Given the description of an element on the screen output the (x, y) to click on. 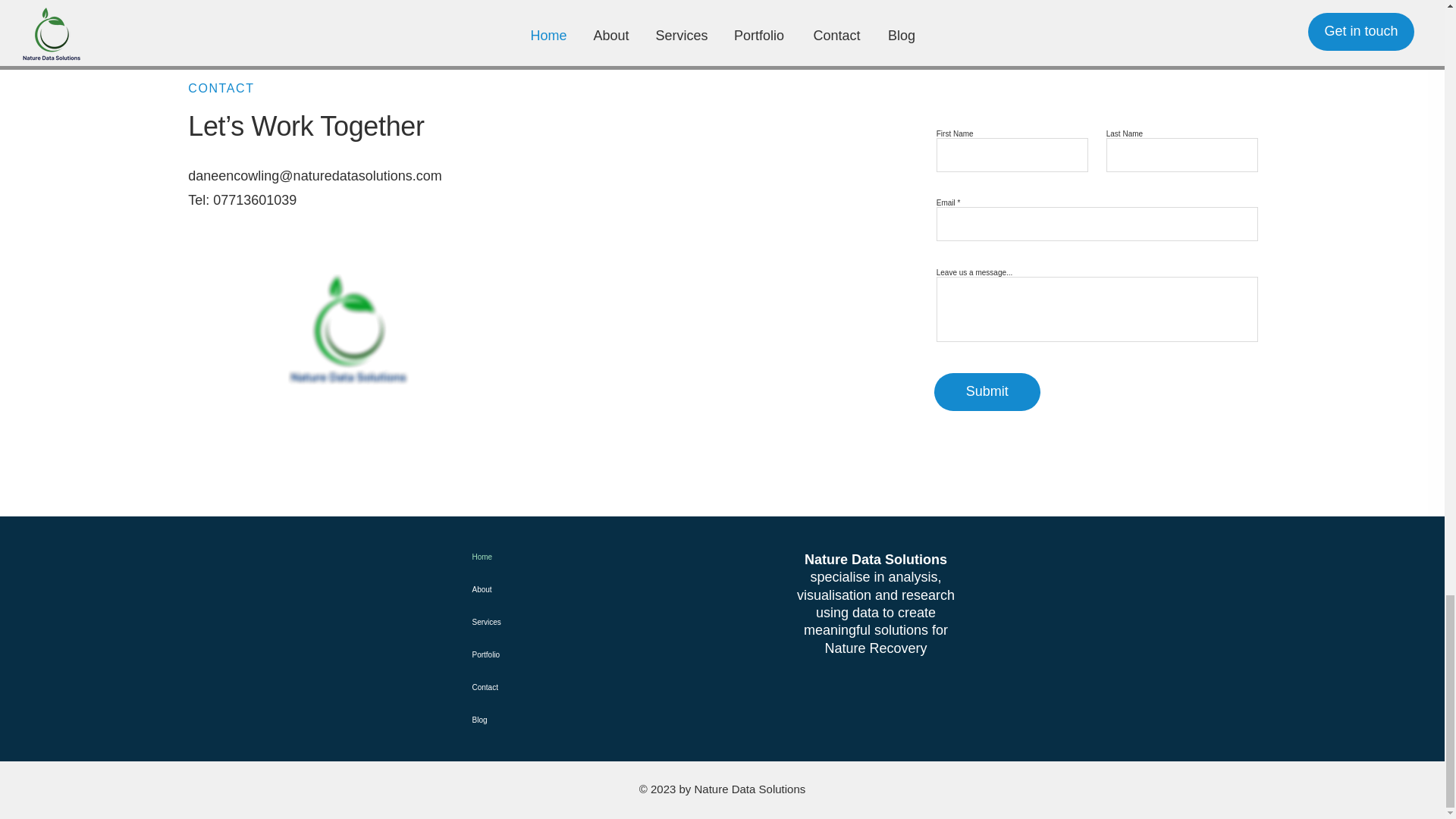
Portfolio (524, 654)
About (524, 589)
Contact (524, 686)
Blog (524, 719)
Home (524, 556)
Submit (987, 392)
NdS.png (346, 330)
Services (524, 622)
